Given the description of an element on the screen output the (x, y) to click on. 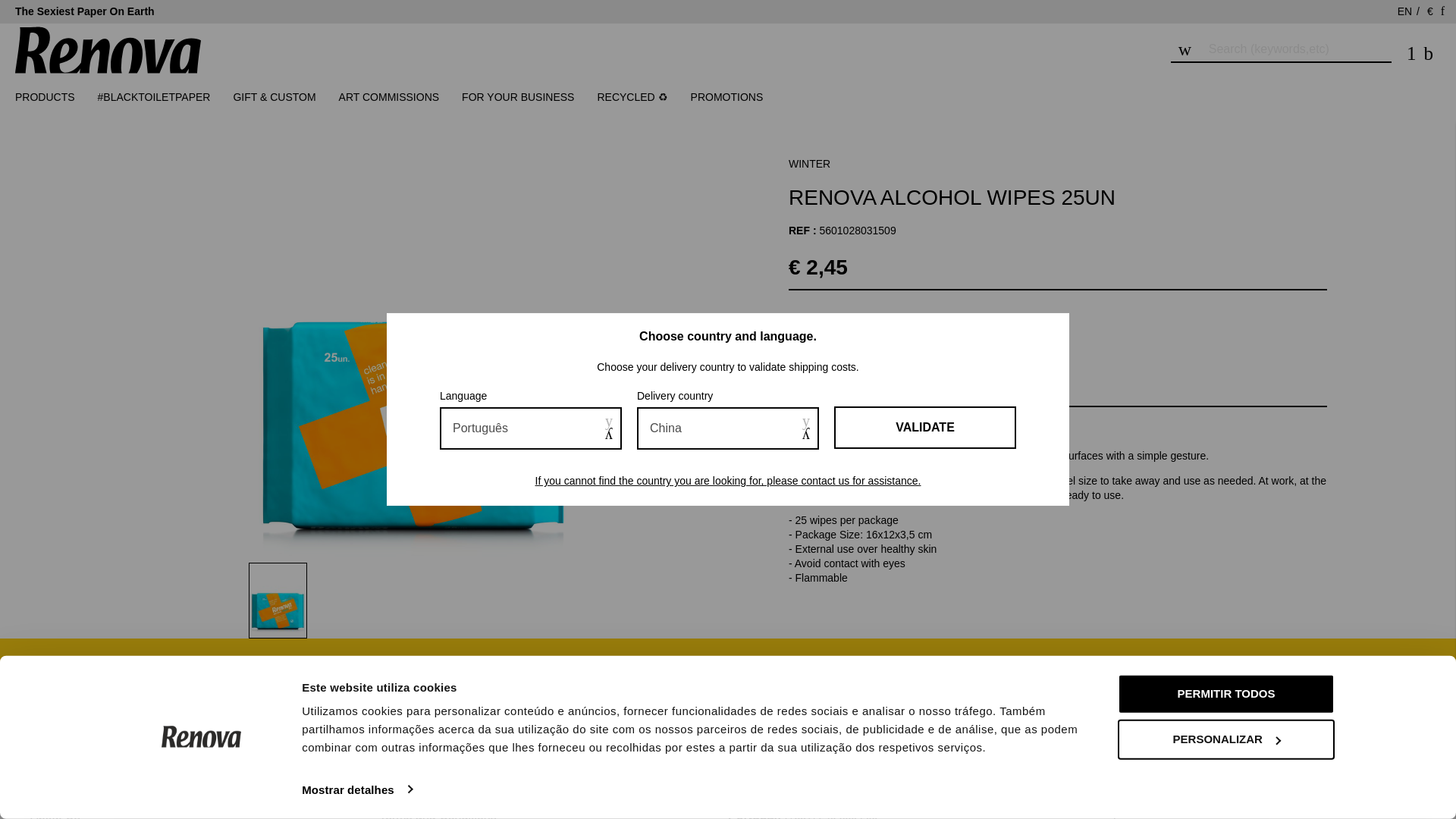
Mostrar detalhes (356, 789)
Renova (107, 72)
1 (821, 331)
